Given the description of an element on the screen output the (x, y) to click on. 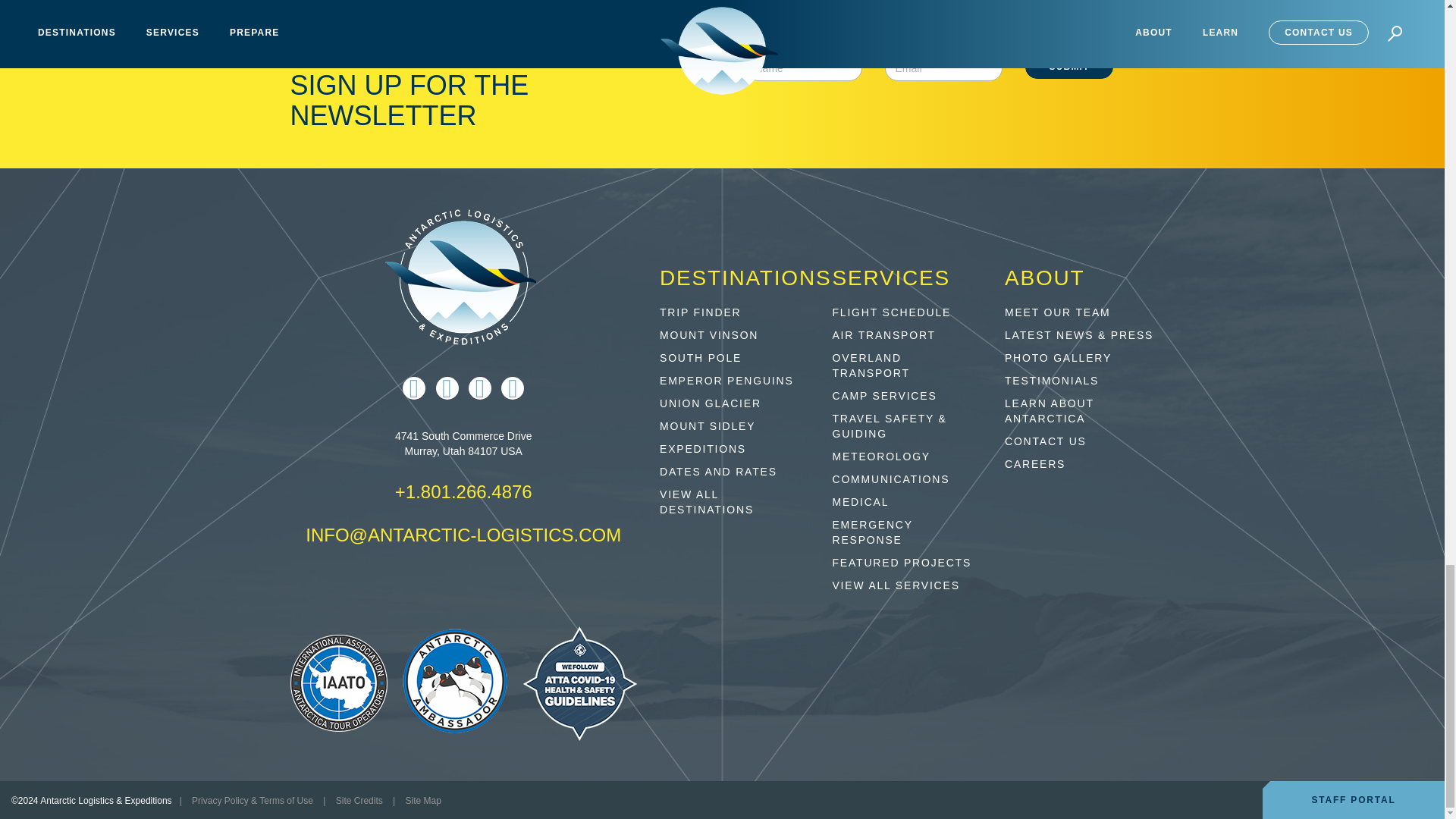
Follow ALE on facebook (413, 388)
Follow ALE on instagram (446, 388)
Follow ALE on twitter (480, 388)
Follow ALE on vimeo (512, 388)
